Given the description of an element on the screen output the (x, y) to click on. 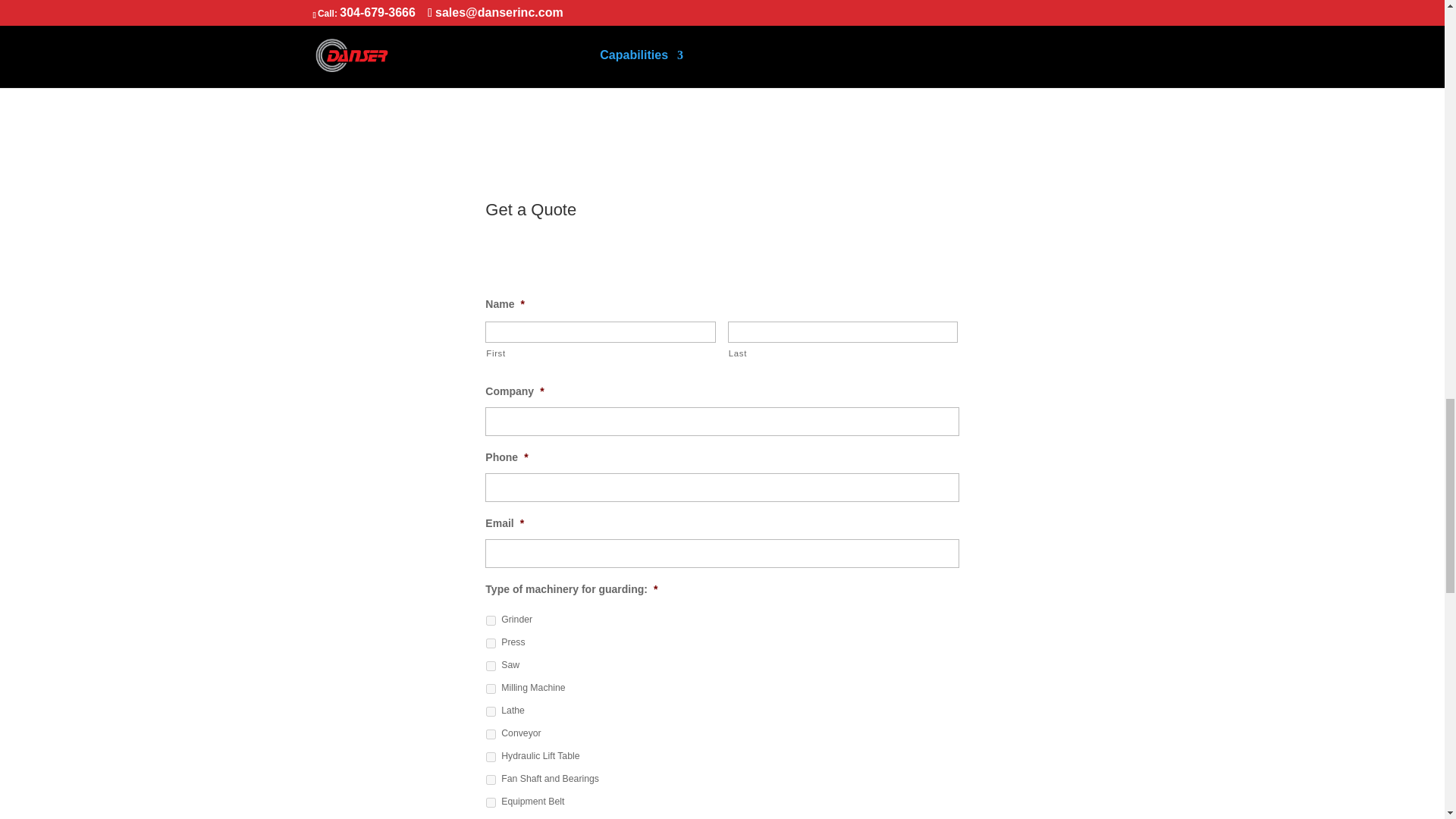
Saw (491, 665)
Equipment Belt (491, 802)
Conveyor (491, 734)
Press (491, 643)
Fan Shaft and Bearings (491, 779)
Grinder (491, 620)
Lathe (491, 711)
Milling Machine (491, 688)
Hydraulic Lift Table (491, 757)
